Given the description of an element on the screen output the (x, y) to click on. 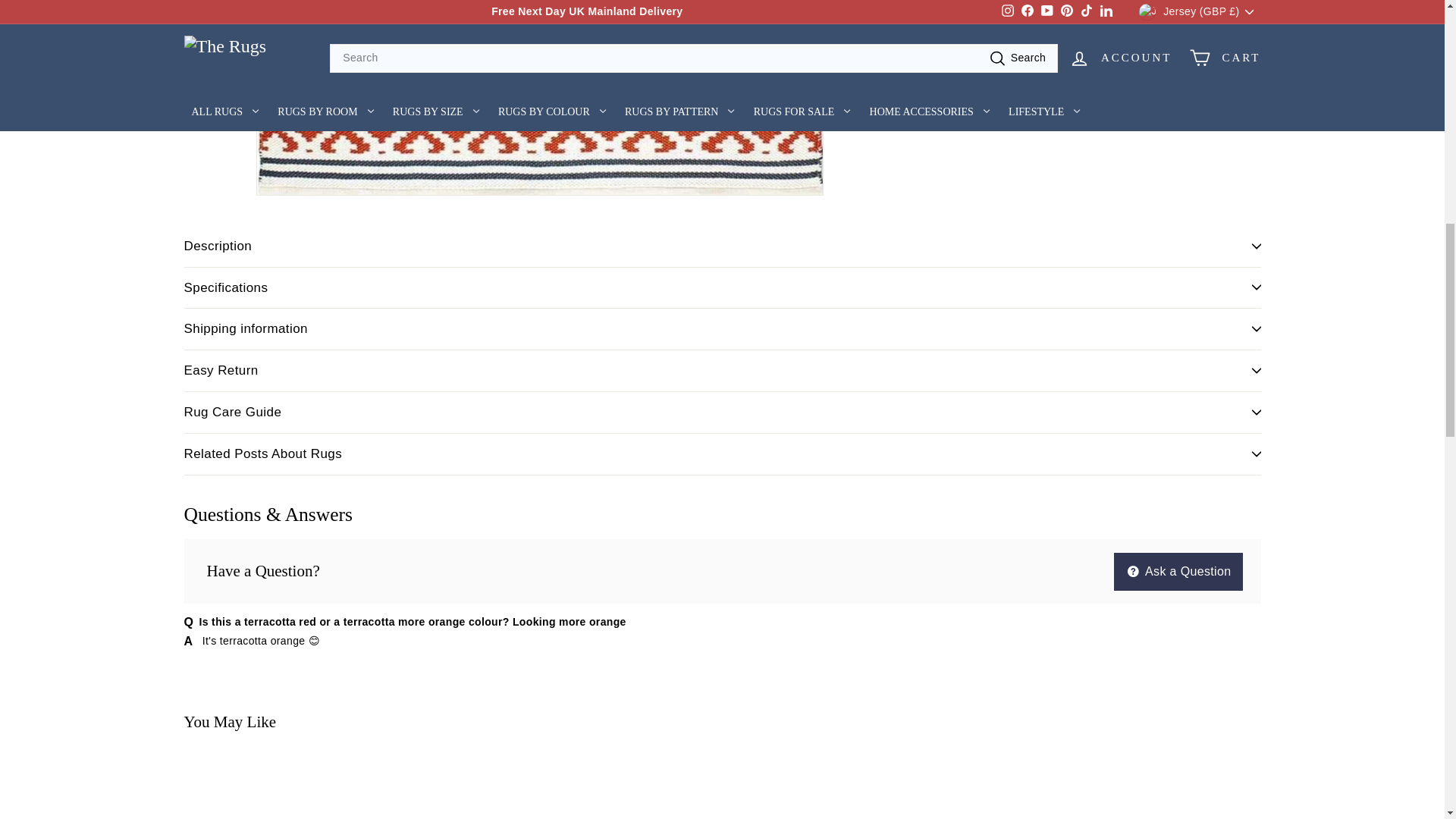
Share on Facebook (902, 23)
Tweet on Twitter (970, 23)
Pin on Pinterest (1039, 23)
